Given the description of an element on the screen output the (x, y) to click on. 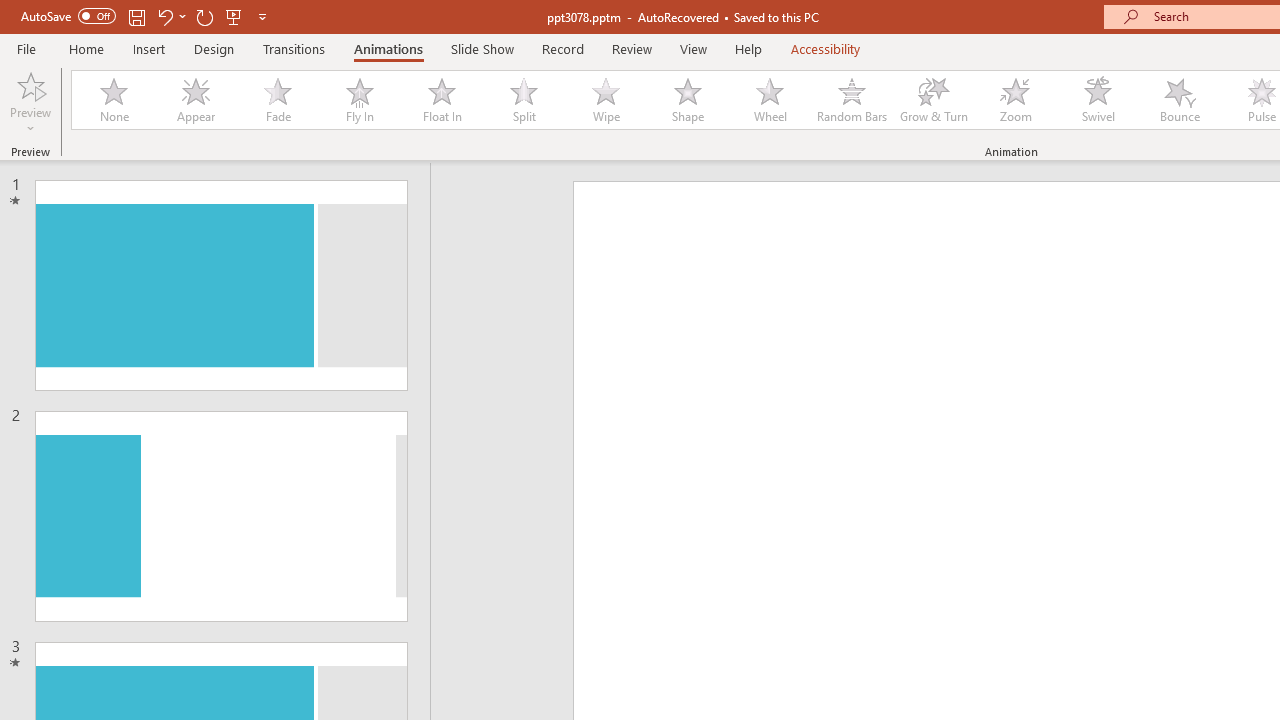
Split (523, 100)
Preview (30, 102)
Appear (195, 100)
